Given the description of an element on the screen output the (x, y) to click on. 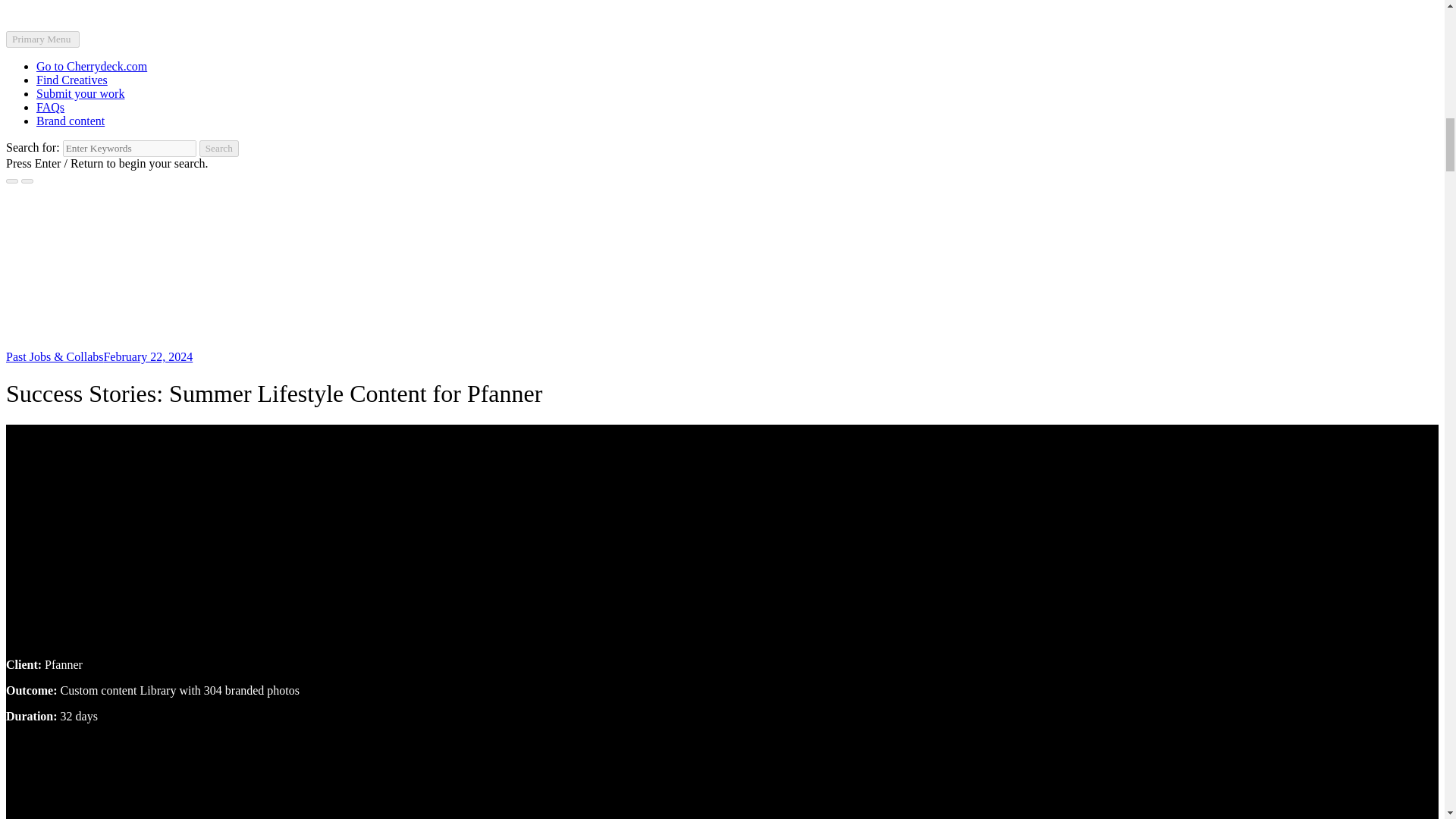
February 22, 2024 (147, 356)
